Given the description of an element on the screen output the (x, y) to click on. 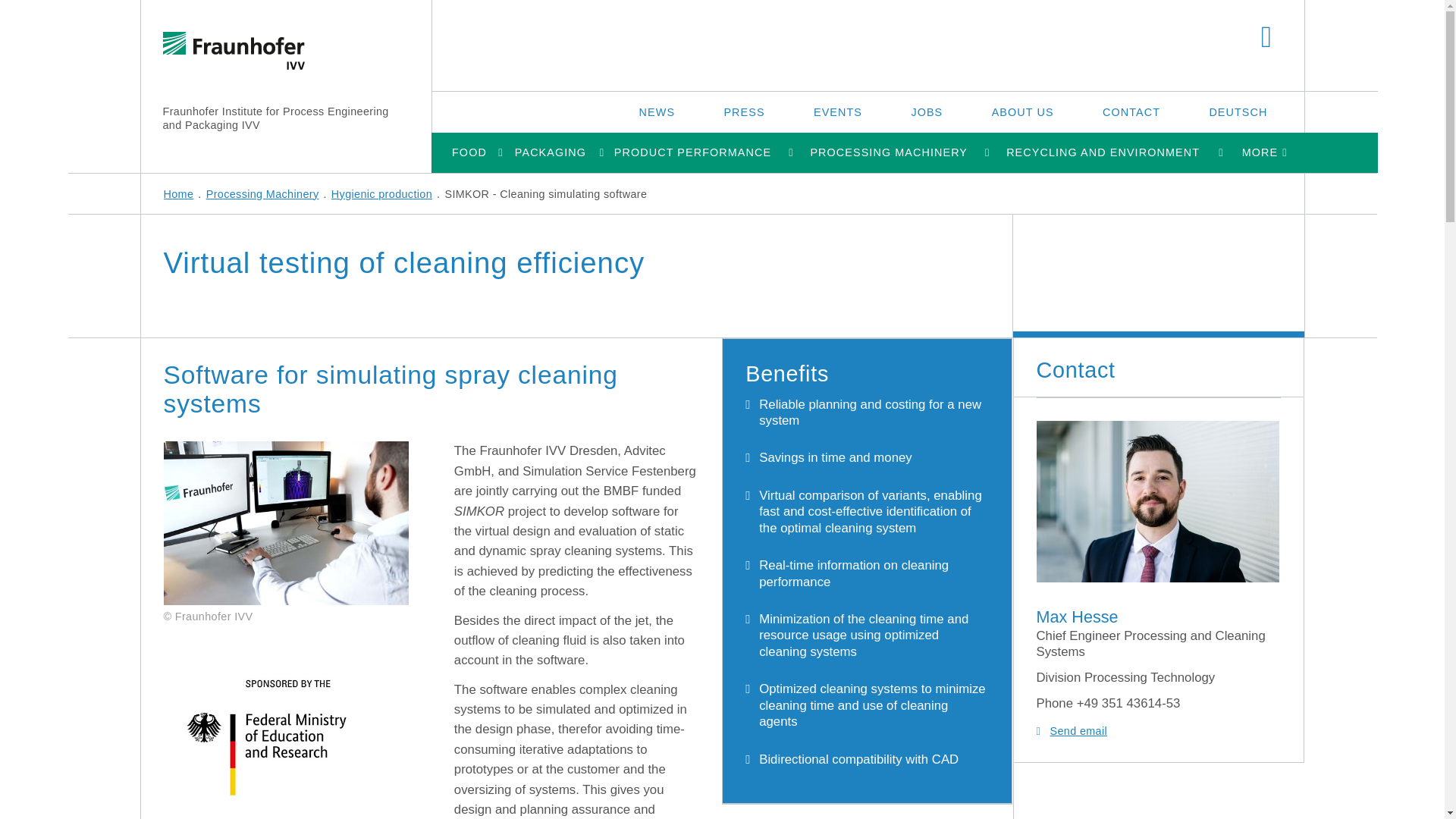
NEWS (656, 111)
SIMKOR Simulationssoftware (275, 522)
SEARCH (1266, 37)
PRESS (743, 111)
EVENTS (837, 111)
FOOD (468, 151)
CONTACT (1131, 111)
ABOUT US (1023, 111)
JOBS (926, 111)
